Given the description of an element on the screen output the (x, y) to click on. 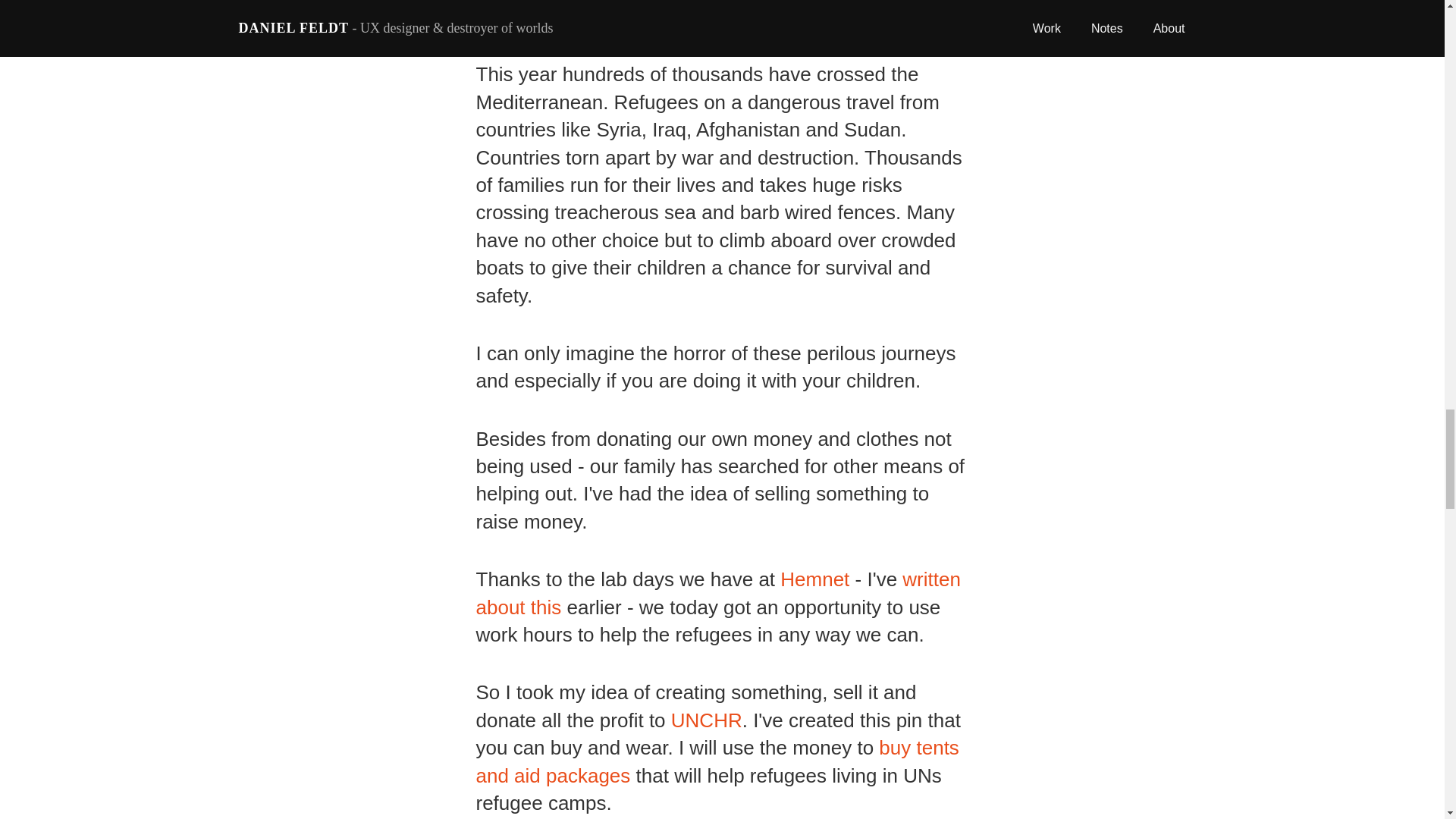
Hemnet (814, 579)
buy tents and aid packages (717, 761)
UNCHR (706, 720)
written about this (718, 593)
